Given the description of an element on the screen output the (x, y) to click on. 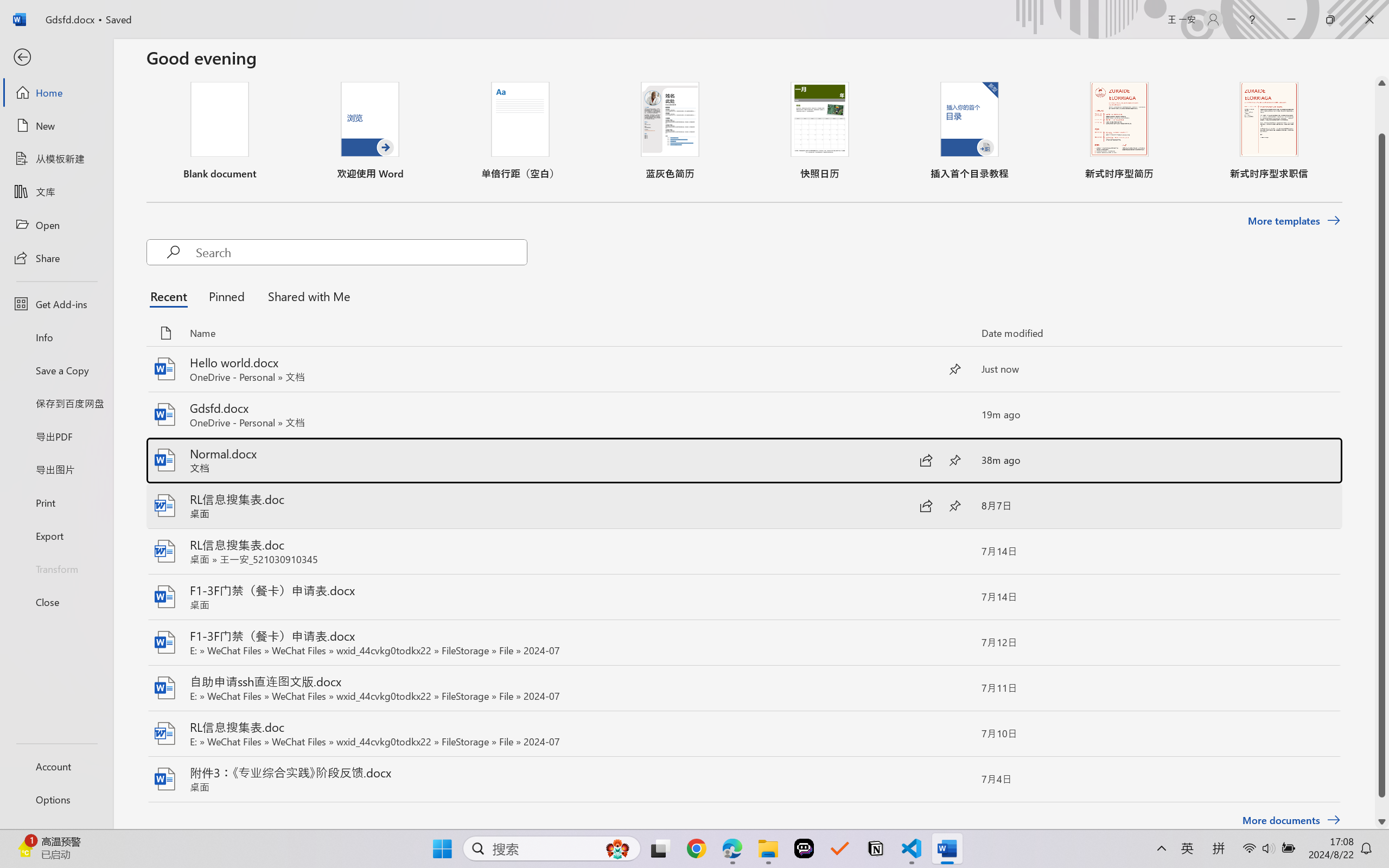
Line down (1382, 821)
More documents (1290, 820)
More templates (1293, 220)
Print (56, 502)
Shared with Me (305, 295)
Normal.docx (743, 460)
Gdsfd.docx (743, 414)
Save a Copy (56, 370)
